Given the description of an element on the screen output the (x, y) to click on. 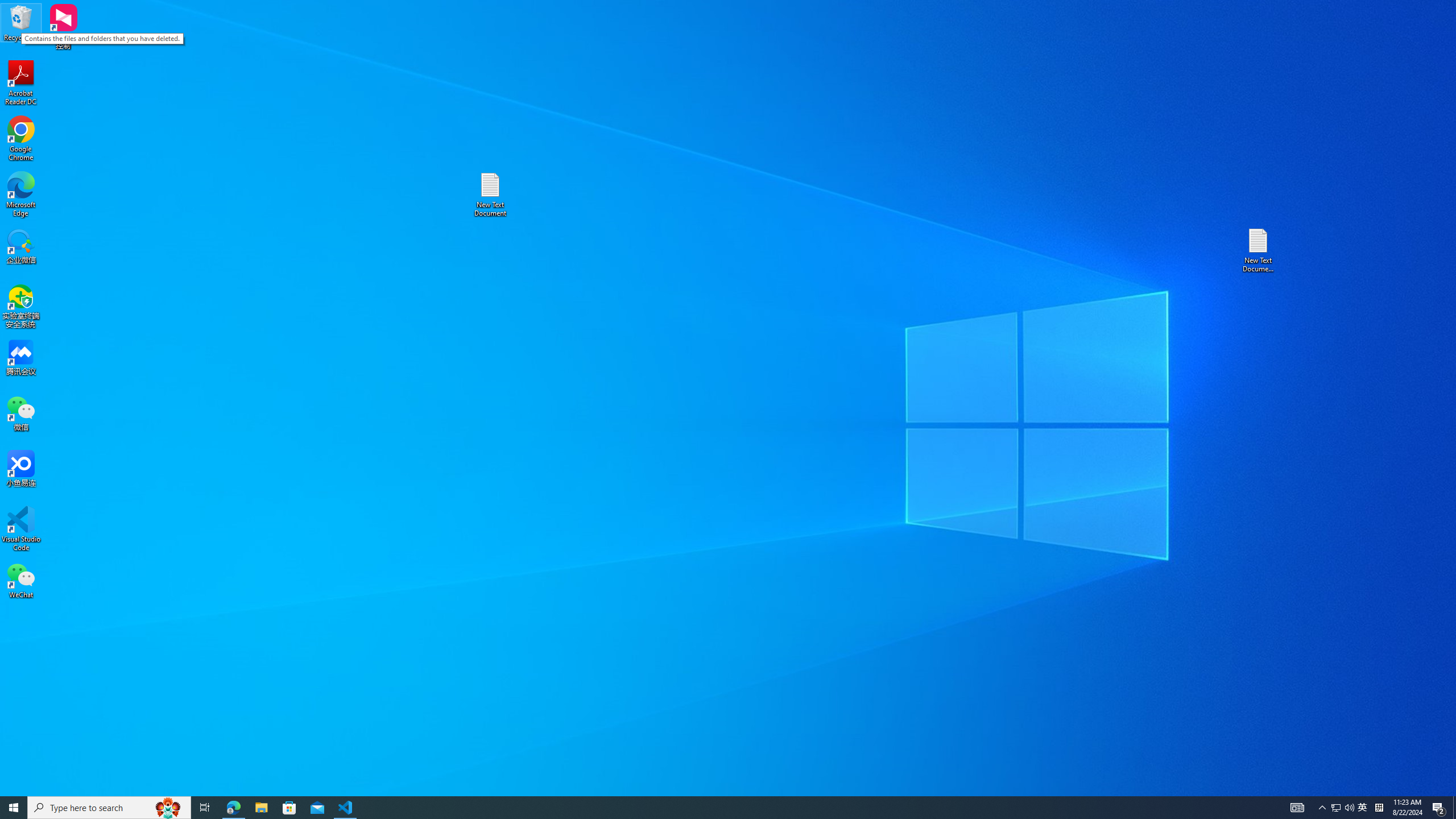
New Text Document (2) (1258, 250)
User Promoted Notification Area (1342, 807)
Visual Studio Code - 1 running window (345, 807)
Microsoft Edge (21, 194)
